Given the description of an element on the screen output the (x, y) to click on. 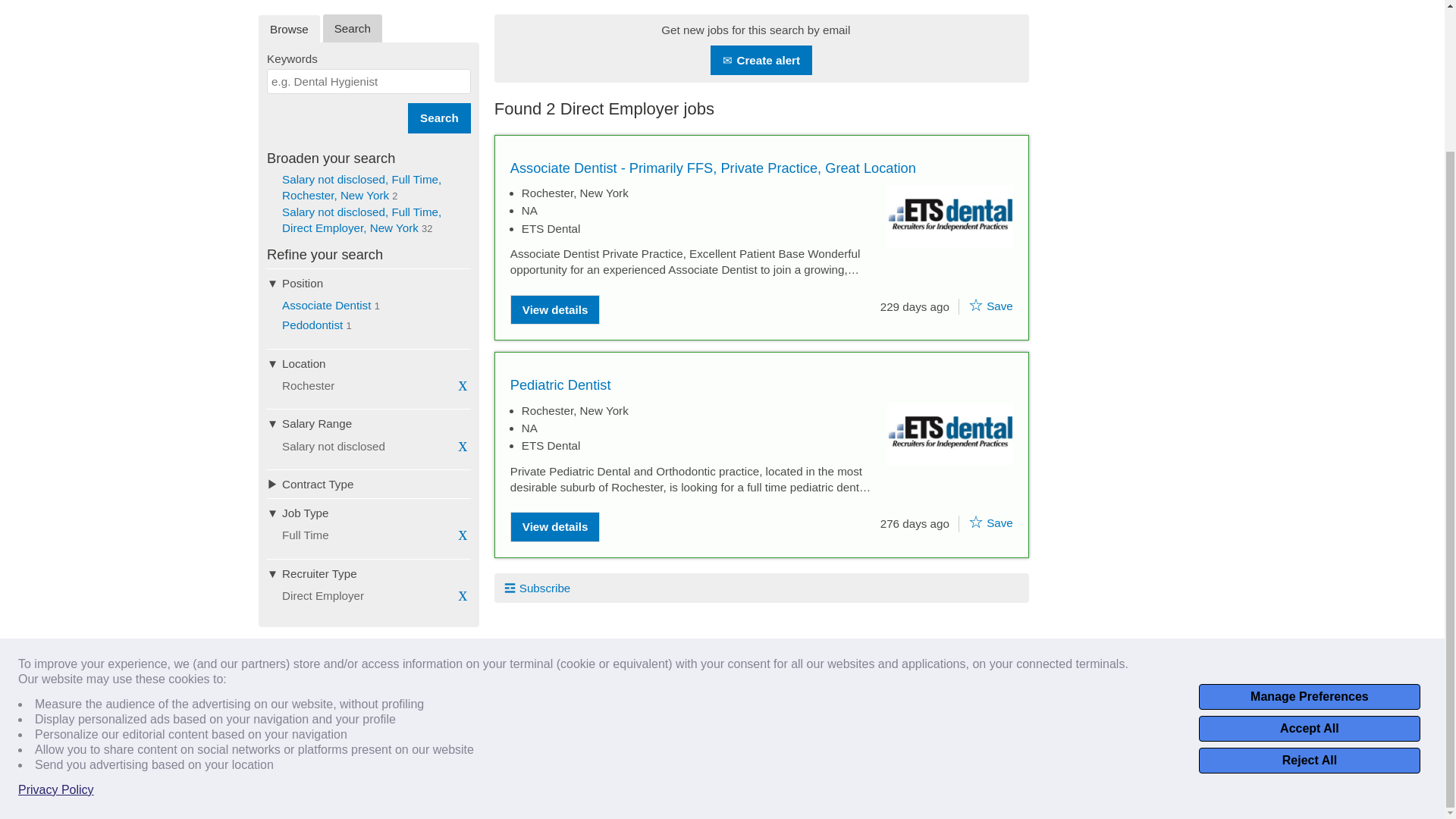
Search (438, 117)
Salary not disclosed, Full Time, Direct Employer, New York (361, 219)
Privacy Policy (55, 614)
Remove selection (462, 384)
Remove selection (462, 533)
Accept All (1309, 553)
Remove selection (462, 594)
Job Type (368, 512)
Search (438, 117)
Position (368, 282)
Remove selection (462, 445)
Associate Dentist (326, 305)
Reject All (1309, 585)
Manage Preferences (1309, 521)
Add to shortlist (976, 521)
